Given the description of an element on the screen output the (x, y) to click on. 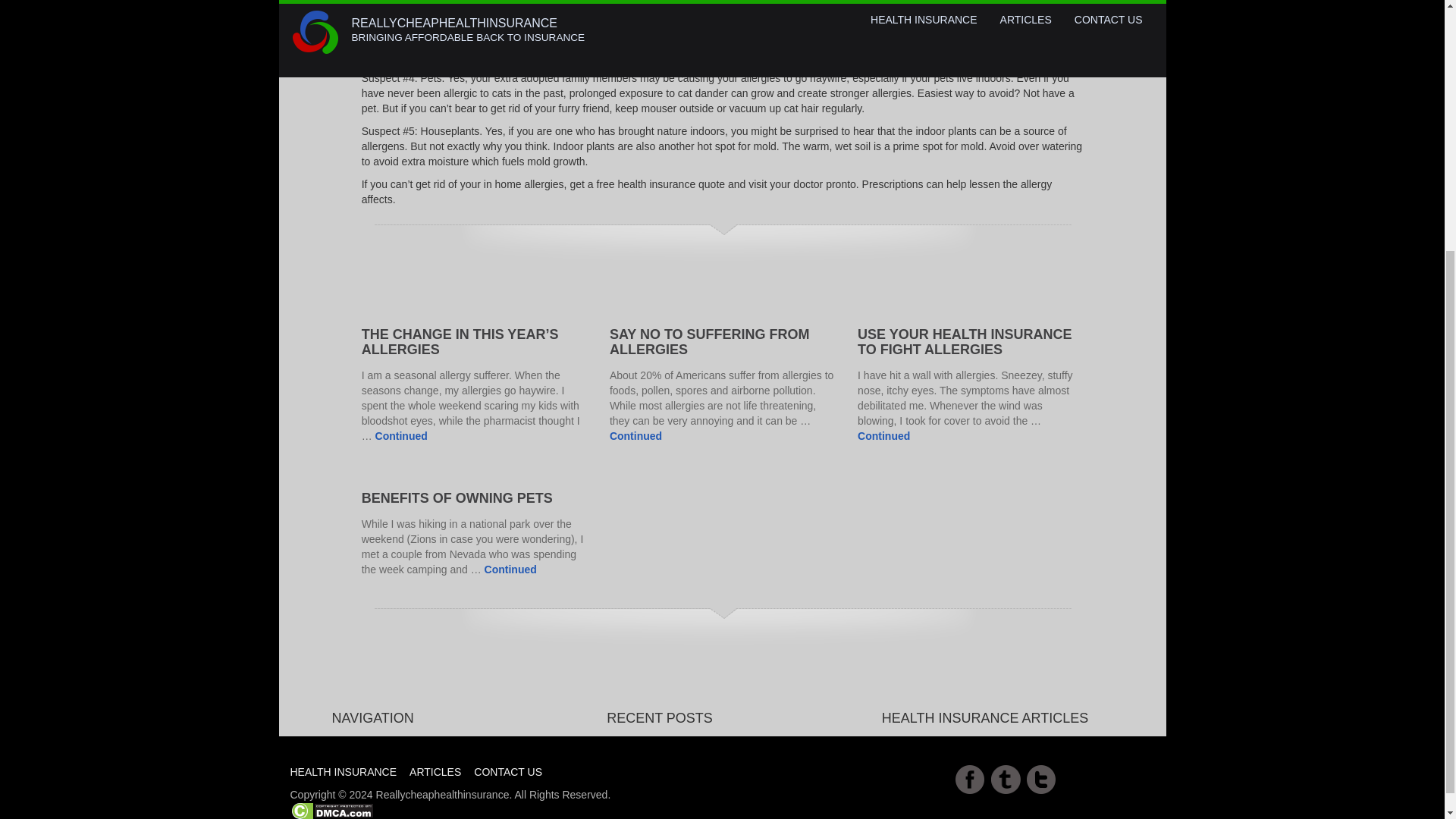
SAY NO TO SUFFERING FROM ALLERGIES (709, 341)
Continued (636, 435)
Continued (401, 435)
Cheap Health Insurance Plans (434, 740)
Continued (510, 569)
BENEFITS OF OWNING PETS (457, 498)
Continued (883, 435)
USE YOUR HEALTH INSURANCE TO FIGHT ALLERGIES (964, 341)
